Given the description of an element on the screen output the (x, y) to click on. 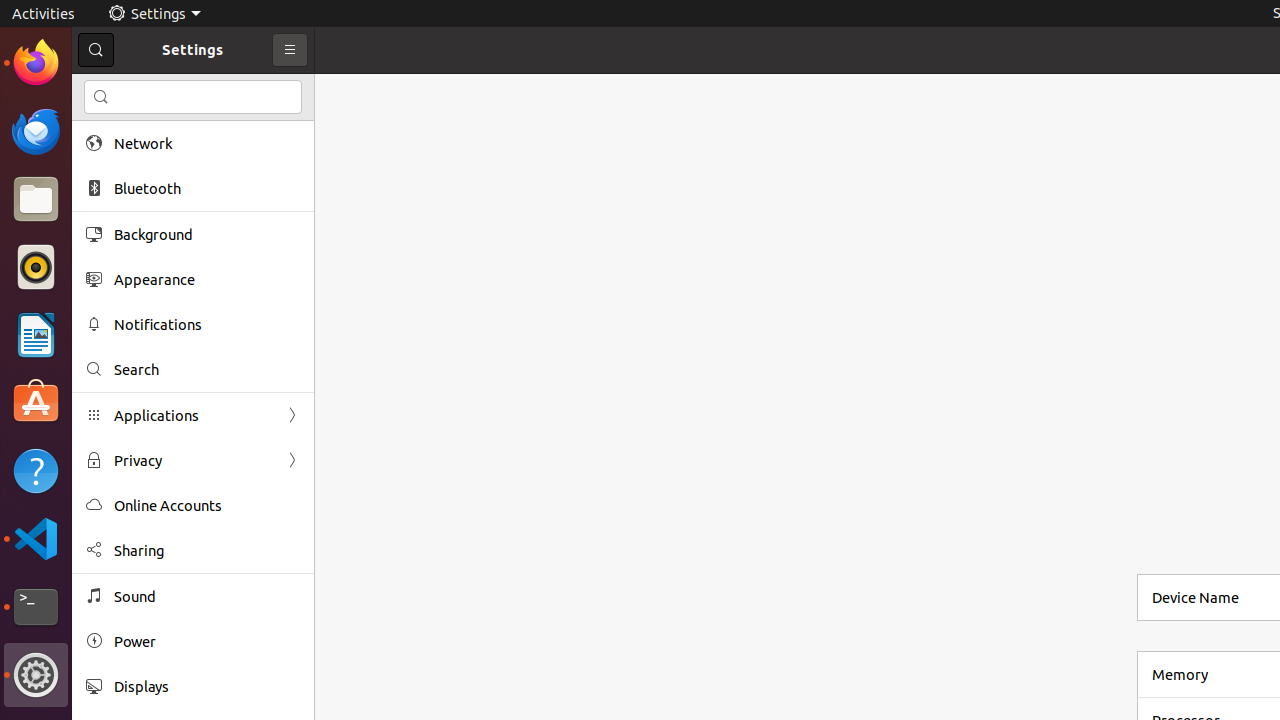
Settings Element type: menu (154, 13)
edit-find-symbolic Element type: icon (101, 97)
Applications Element type: label (193, 415)
li.txt Element type: label (259, 89)
